Given the description of an element on the screen output the (x, y) to click on. 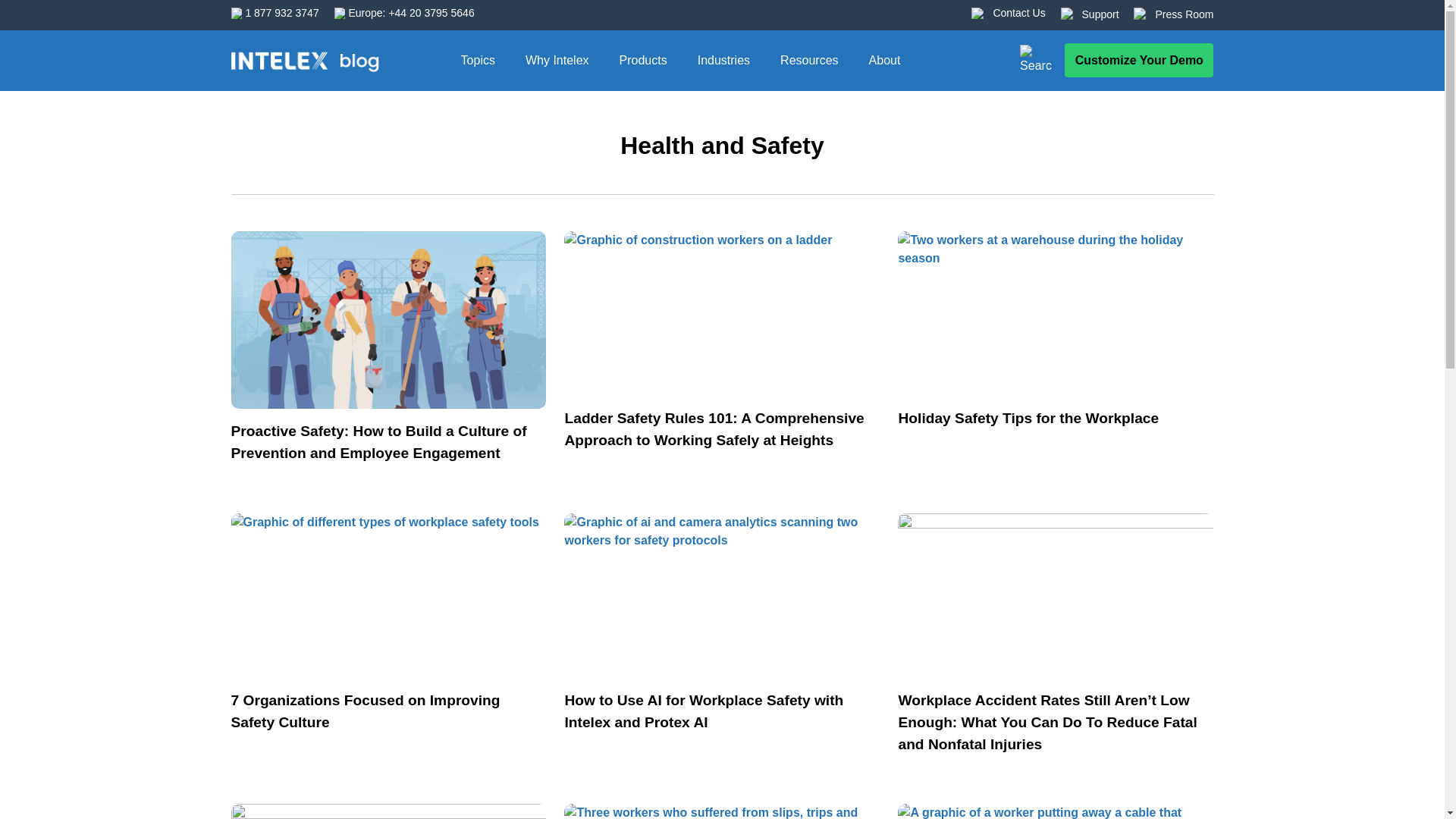
Topics (478, 60)
1 877 932 3747 (281, 13)
Contact Us (1018, 13)
Products (643, 60)
Press Room (1183, 14)
Support (1100, 14)
Why Intelex (557, 60)
